Given the description of an element on the screen output the (x, y) to click on. 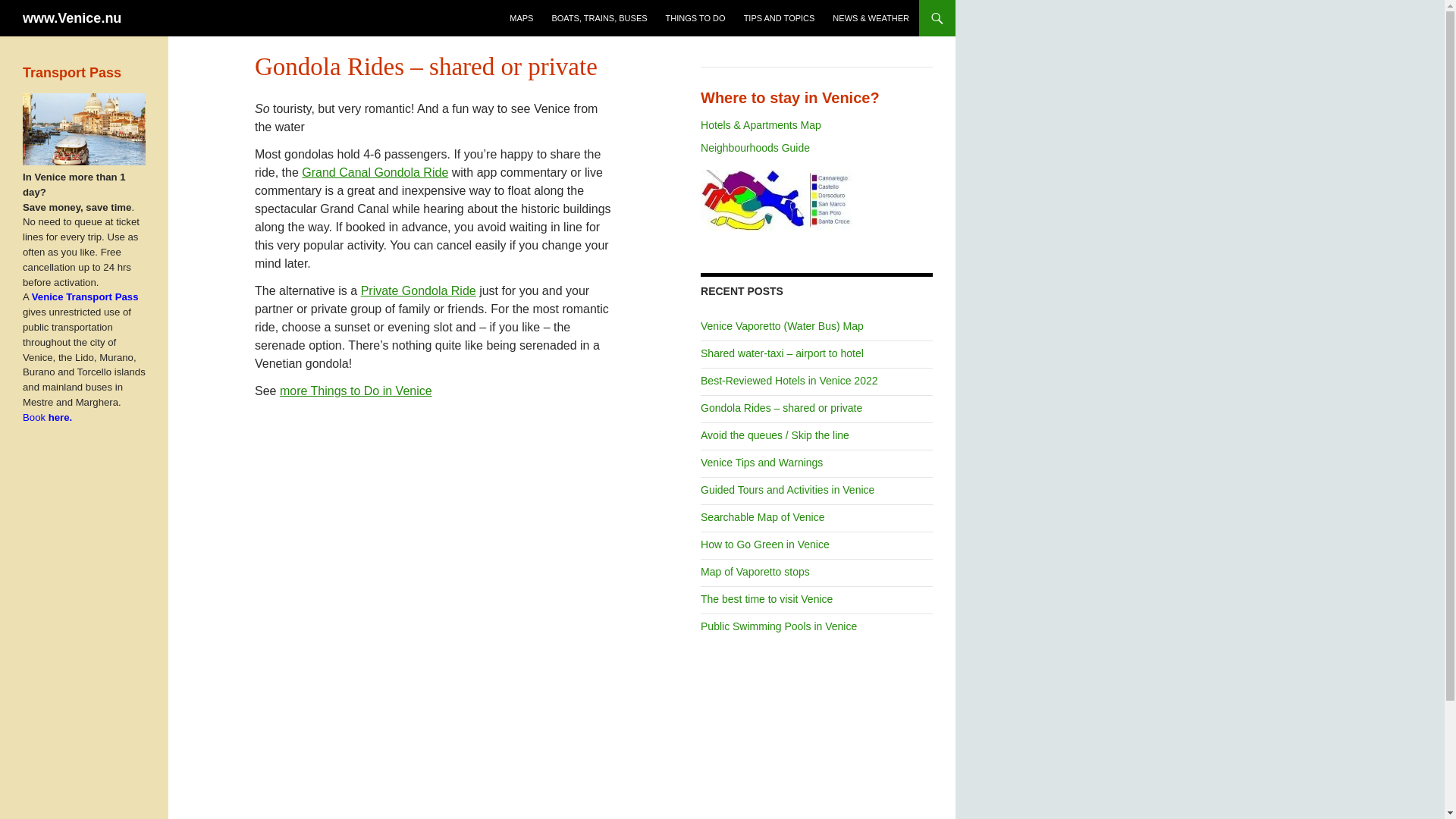
www.Venice.nu (71, 18)
Grand Canal Gondola Ride (374, 172)
Public Swimming Pools in Venice (778, 625)
The best time to visit Venice (766, 598)
Private Gondola Ride (418, 290)
BOATS, TRAINS, BUSES (598, 18)
TIPS AND TOPICS (779, 18)
Searchable Map of Venice (762, 517)
Book here. (71, 424)
How to Go Green in Venice (764, 544)
